Given the description of an element on the screen output the (x, y) to click on. 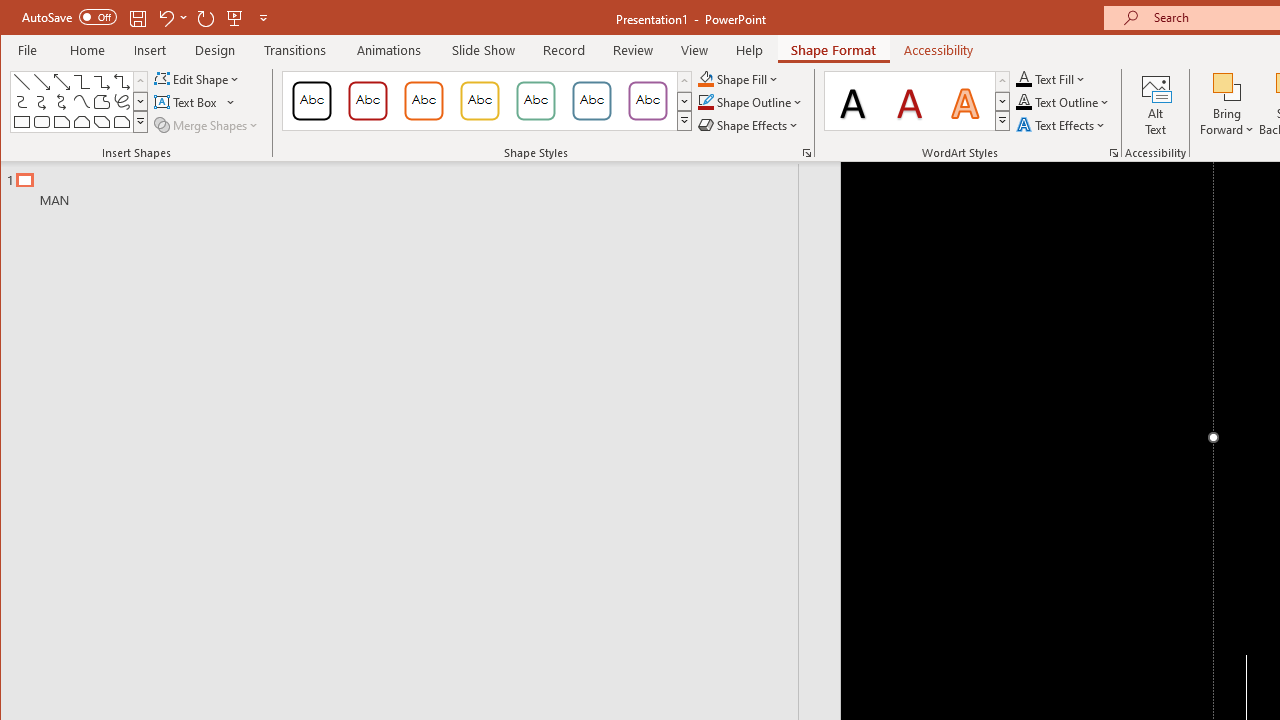
Colored Outline - Purple, Accent 6 (647, 100)
Bring Forward (1227, 104)
Colored Outline - Gold, Accent 3 (479, 100)
Bring Forward (1227, 86)
Rectangle: Top Corners One Rounded and One Snipped (121, 121)
Rectangle: Diagonal Corners Snipped (102, 121)
Colored Outline - Dark Red, Accent 1 (367, 100)
Text Effects (1062, 124)
